Given the description of an element on the screen output the (x, y) to click on. 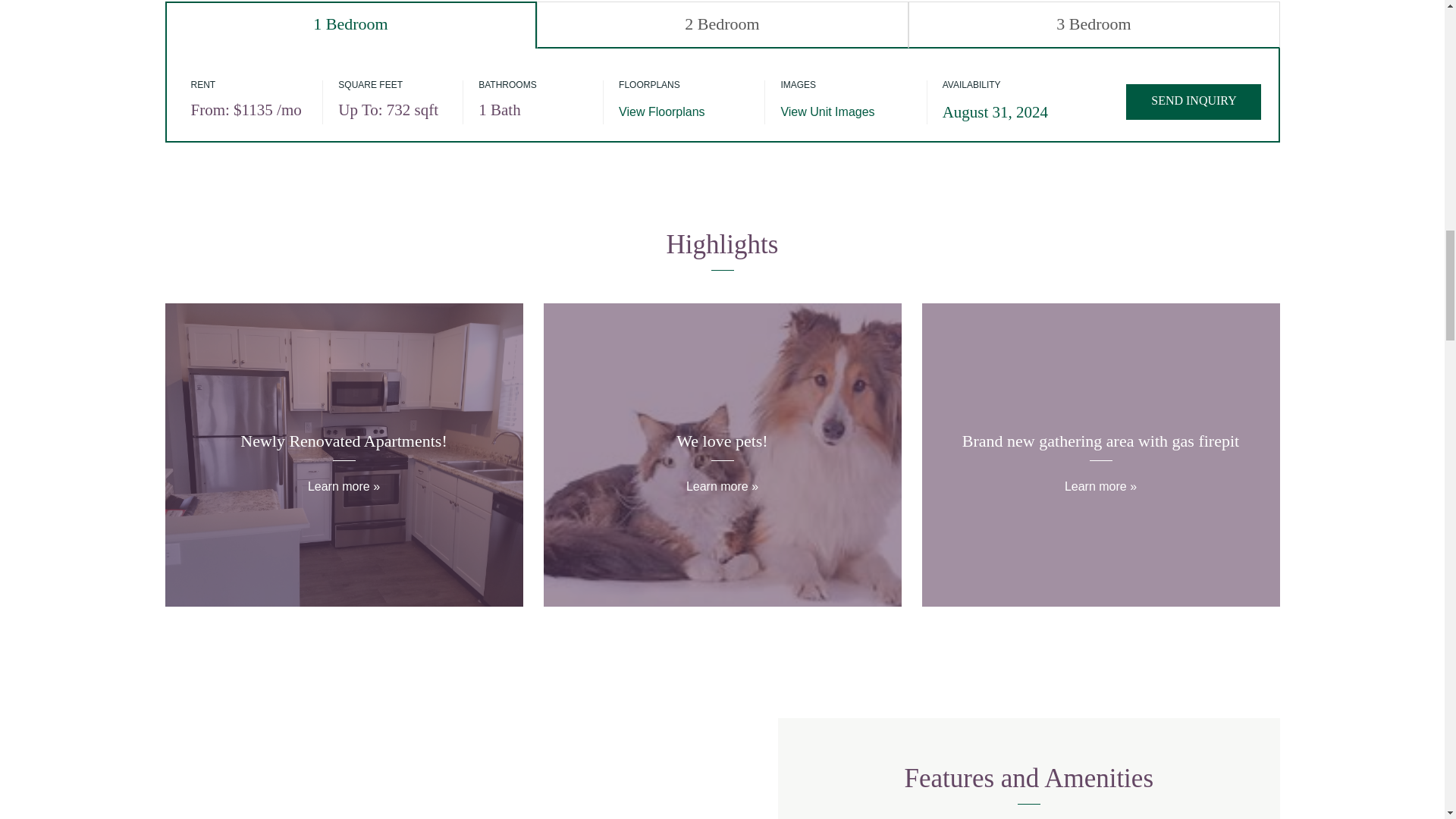
View Floorplans (661, 111)
3 Bedroom (1093, 24)
View Unit Images (827, 111)
August 31, 2024 (995, 112)
View Floorplans (661, 111)
1 Bedroom (351, 24)
 Availability (1192, 101)
2 Bedroom (722, 24)
3 Bedroom (1093, 24)
View Unit Images (827, 111)
1 Bedroom (351, 24)
August 31, 2024 (995, 112)
SEND INQUIRY (1192, 101)
2 Bedroom (722, 24)
